Given the description of an element on the screen output the (x, y) to click on. 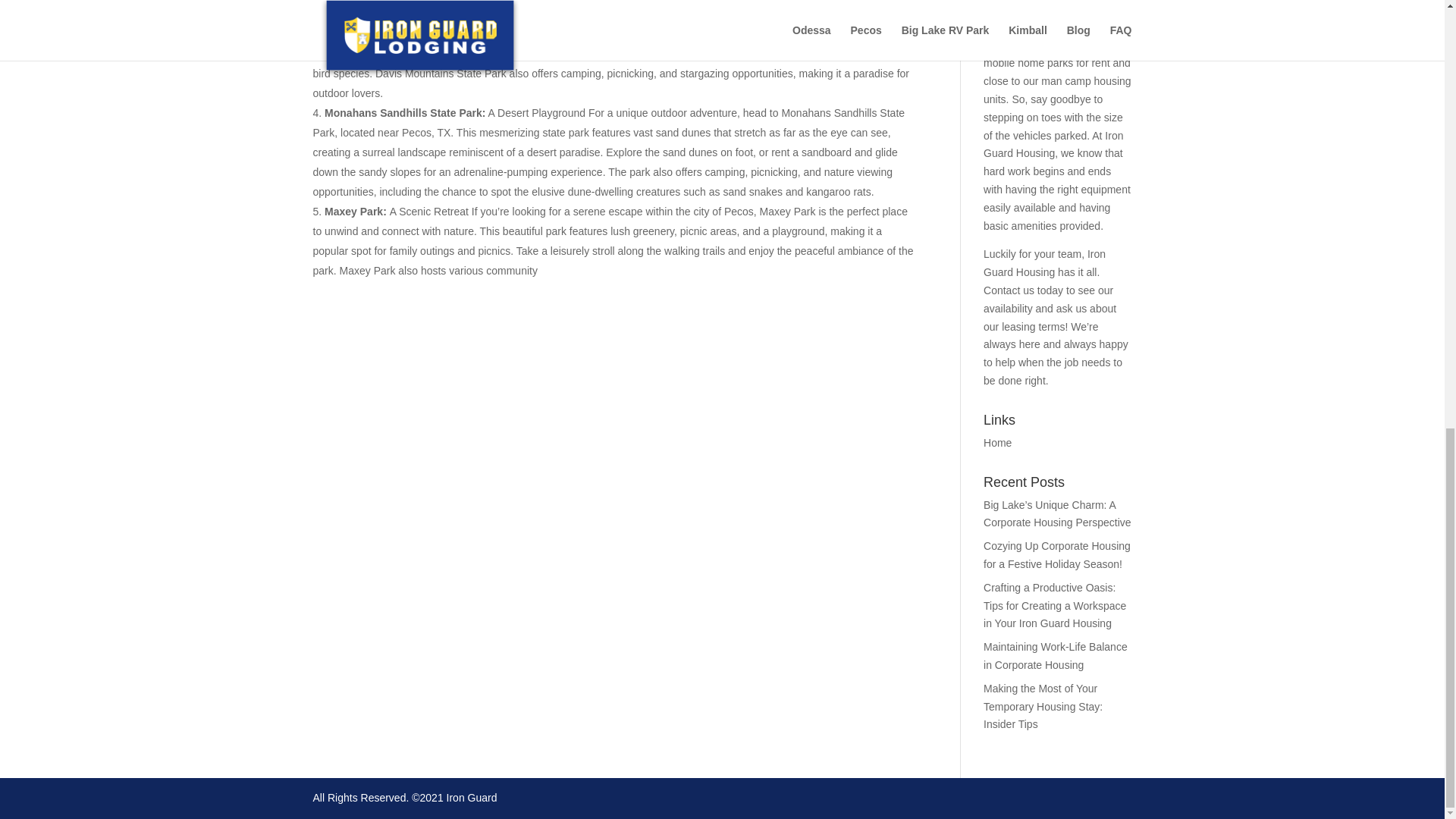
Cozying Up Corporate Housing for a Festive Holiday Season! (1057, 554)
Maintaining Work-Life Balance in Corporate Housing (1055, 655)
Home (997, 442)
Making the Most of Your Temporary Housing Stay: Insider Tips (1043, 706)
